Given the description of an element on the screen output the (x, y) to click on. 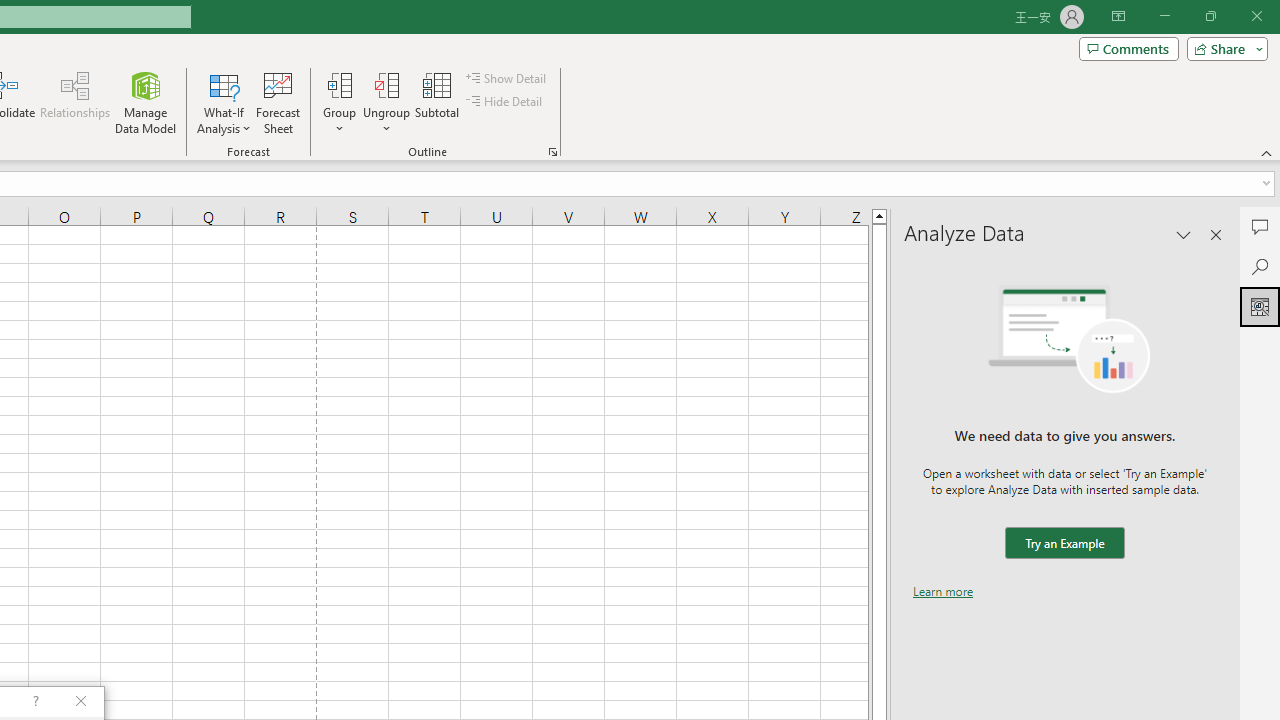
Manage Data Model (145, 102)
Learn more (943, 591)
Restore Down (1210, 16)
Forecast Sheet (278, 102)
Analyze Data (1260, 306)
Close pane (1215, 234)
Group... (339, 84)
Group and Outline Settings (552, 151)
Hide Detail (505, 101)
